Given the description of an element on the screen output the (x, y) to click on. 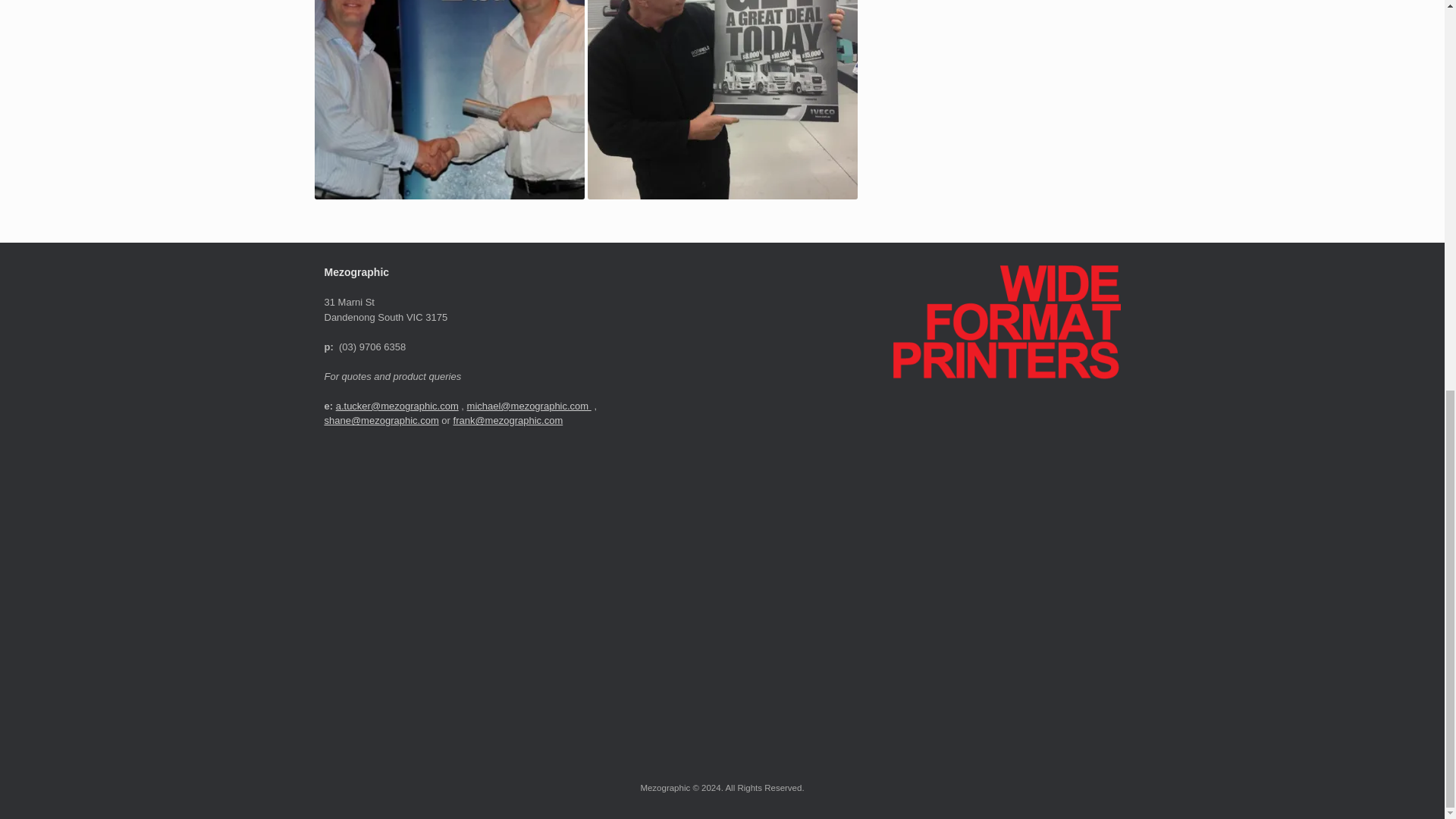
MezographicAward (448, 99)
tradeprint (721, 99)
